Given the description of an element on the screen output the (x, y) to click on. 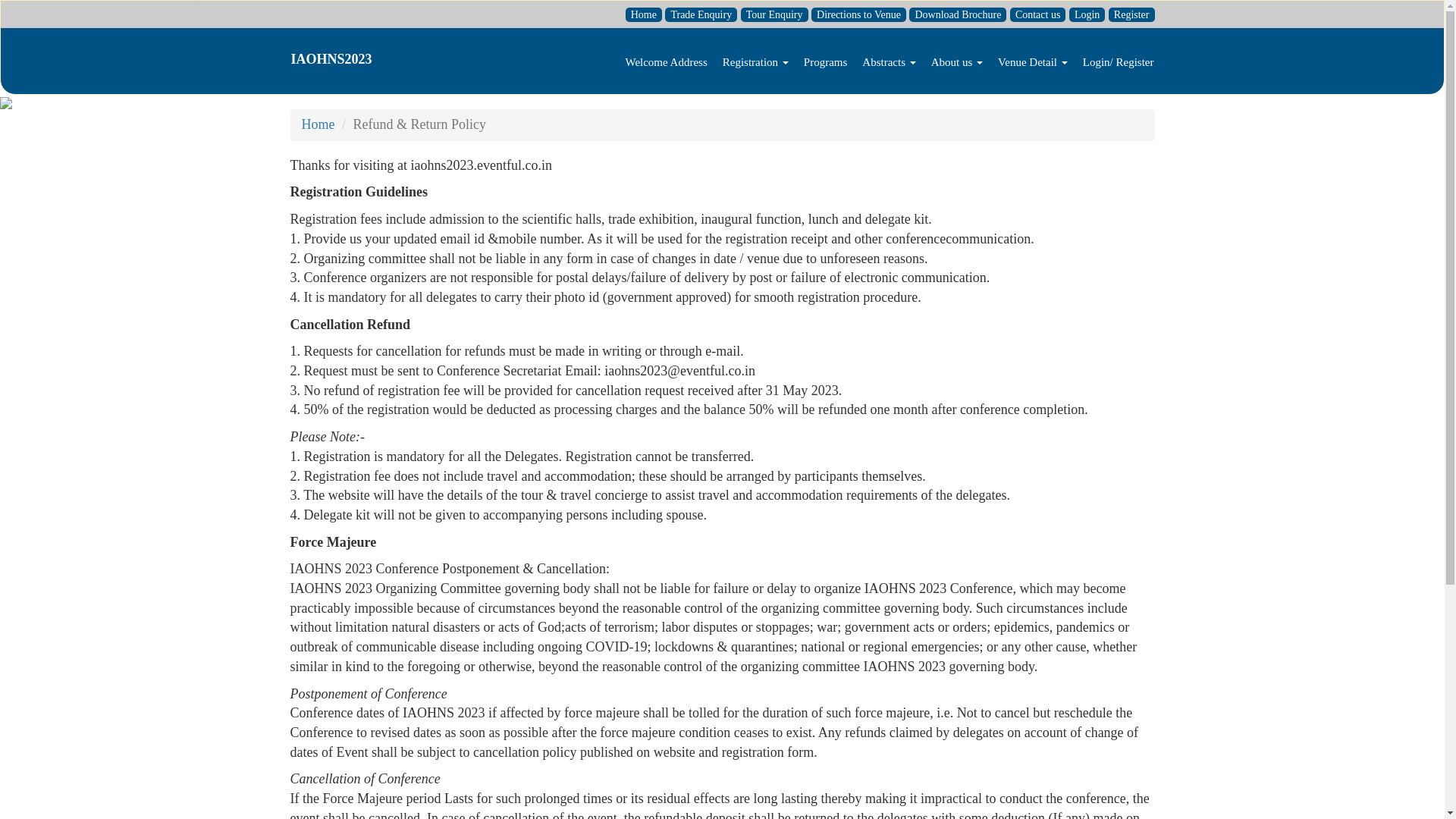
Venue Detail (1032, 61)
Register (1131, 14)
Programs (826, 61)
Login (1086, 14)
IAOHNS2023 (331, 58)
Home (644, 14)
Directions to Venue (857, 14)
Download Brochure (957, 14)
Welcome Address (665, 61)
Trade Enquiry (700, 14)
Tour Enquiry (774, 14)
Contact us (1037, 14)
Registration (755, 61)
Abstracts (888, 61)
Home (317, 124)
